Given the description of an element on the screen output the (x, y) to click on. 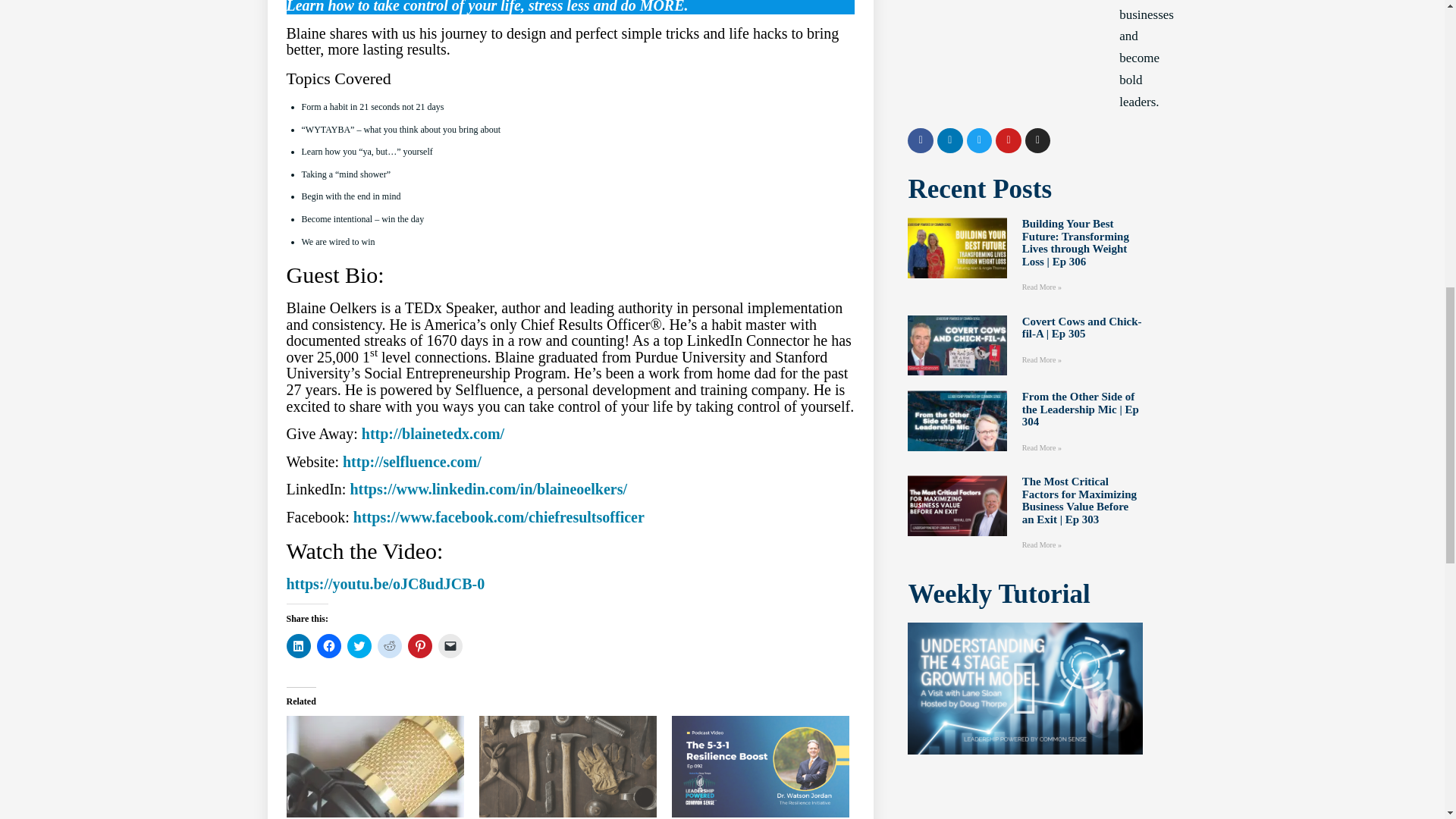
Click to share on Twitter (359, 645)
Click to share on Facebook (328, 645)
Click to share on LinkedIn (298, 645)
Click to share on Reddit (389, 645)
